Given the description of an element on the screen output the (x, y) to click on. 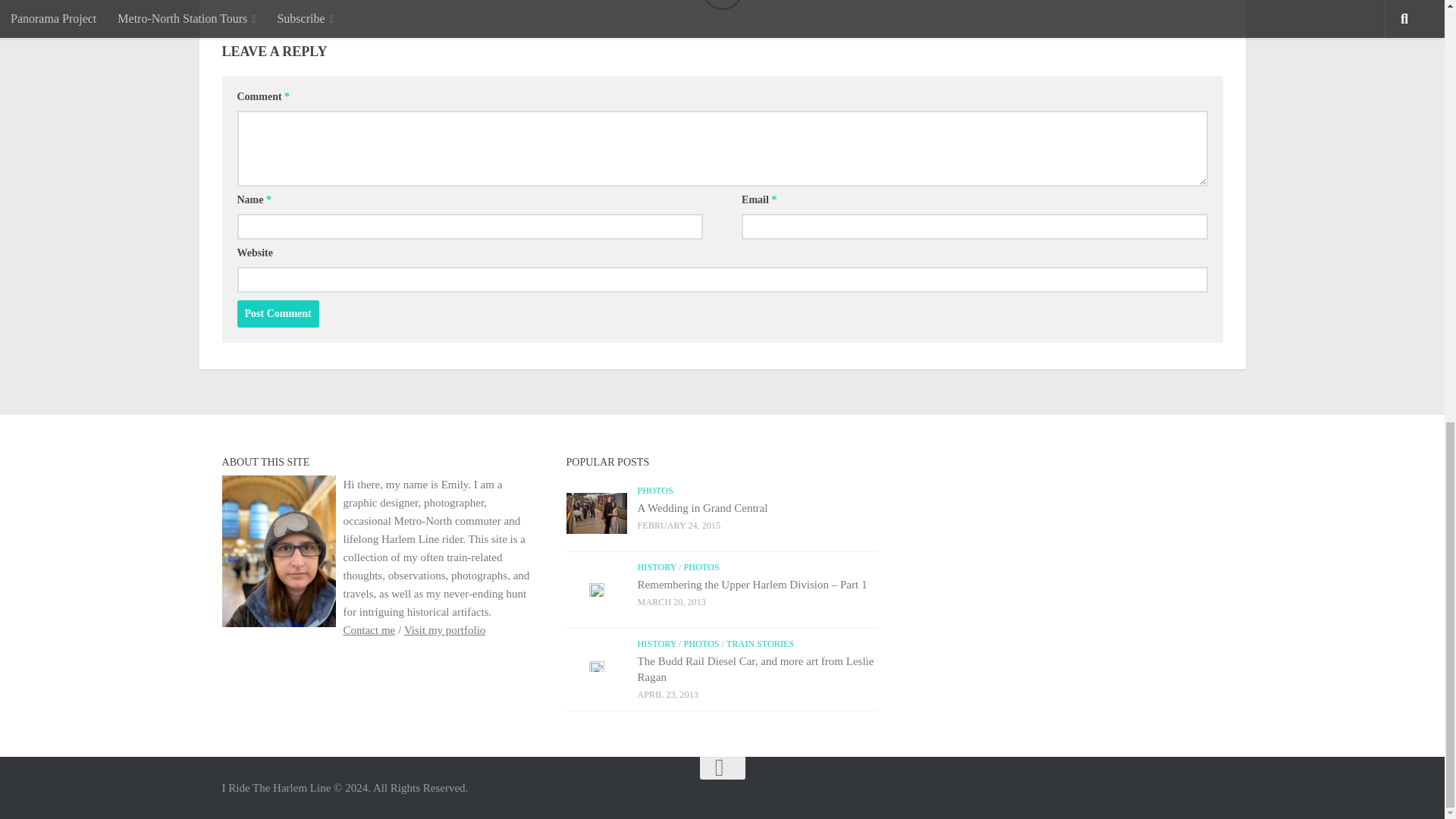
Post Comment (276, 313)
